Given the description of an element on the screen output the (x, y) to click on. 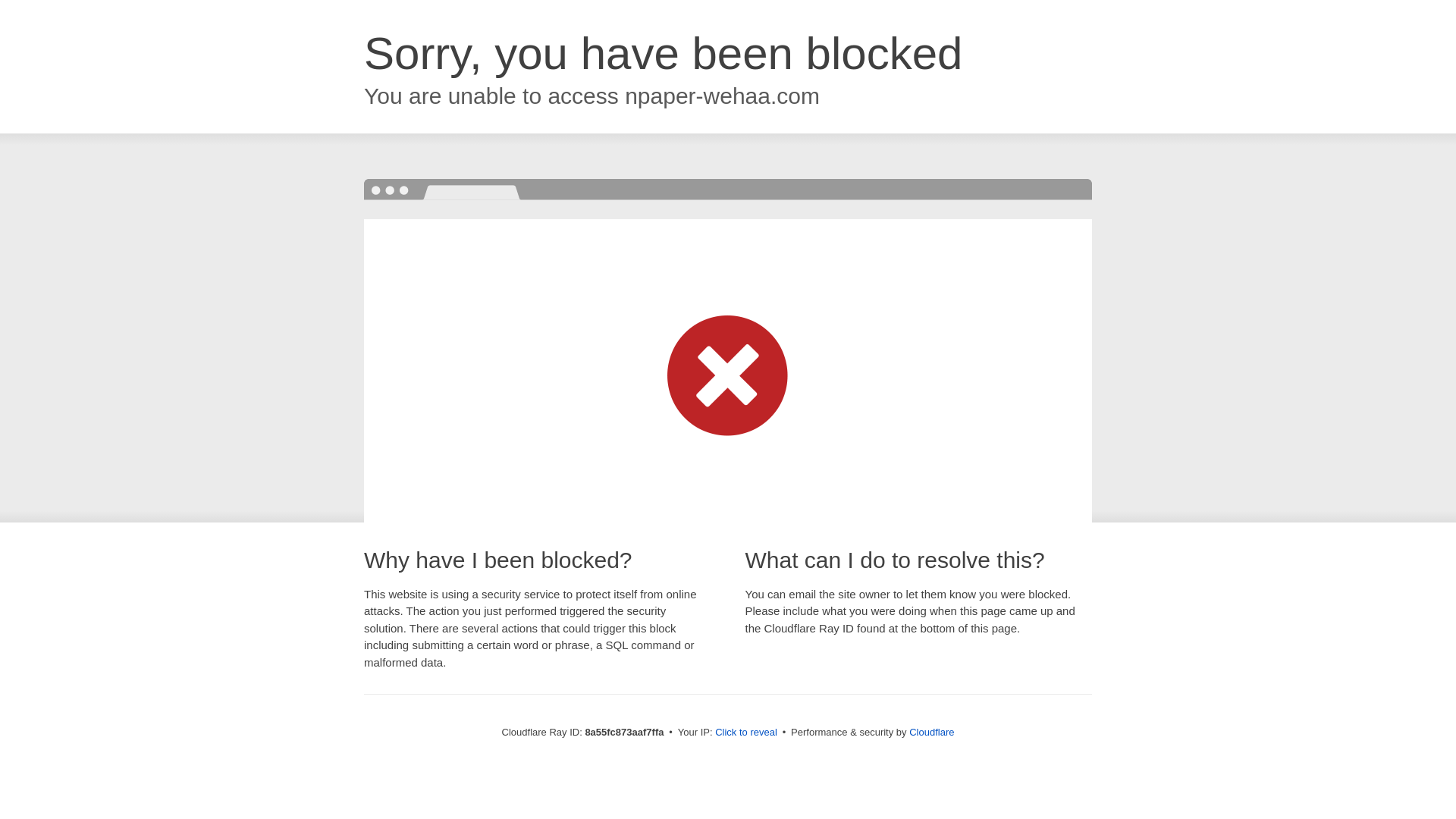
Click to reveal (745, 732)
Cloudflare (930, 731)
